Given the description of an element on the screen output the (x, y) to click on. 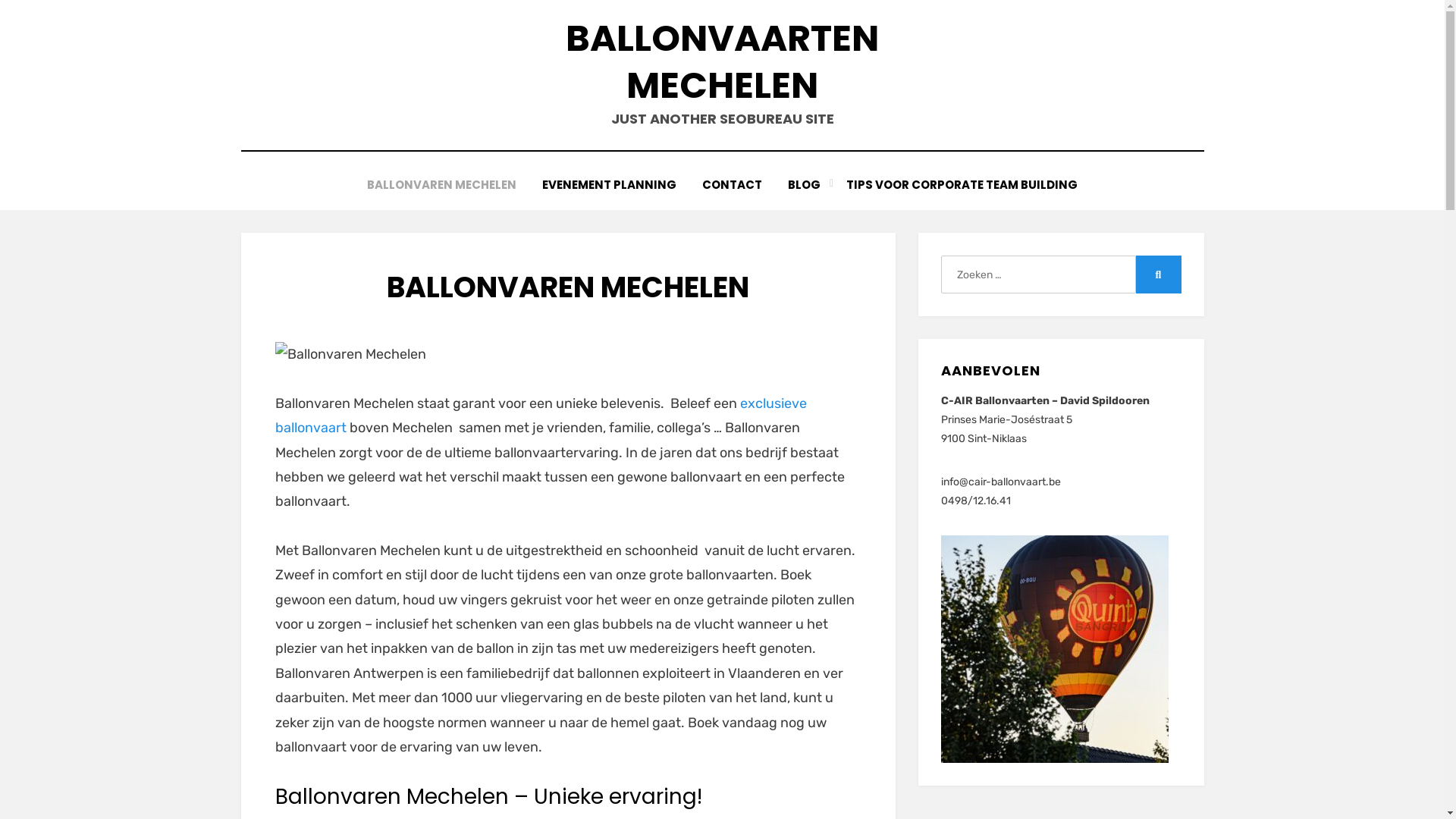
0498/12.16.41 Element type: text (975, 500)
BALLONVAARTEN MECHELEN Element type: text (721, 61)
BALLONVAREN MECHELEN Element type: text (441, 184)
TIPS VOOR CORPORATE TEAM BUILDING Element type: text (961, 184)
BLOG Element type: text (804, 184)
info@cair-ballonvaart.be Element type: text (1000, 481)
exclusieve ballonvaart Element type: text (540, 415)
Zoeken naar: Element type: hover (1038, 274)
CONTACT Element type: text (732, 184)
EVENEMENT PLANNING Element type: text (609, 184)
Zoeken Element type: text (1158, 274)
